Given the description of an element on the screen output the (x, y) to click on. 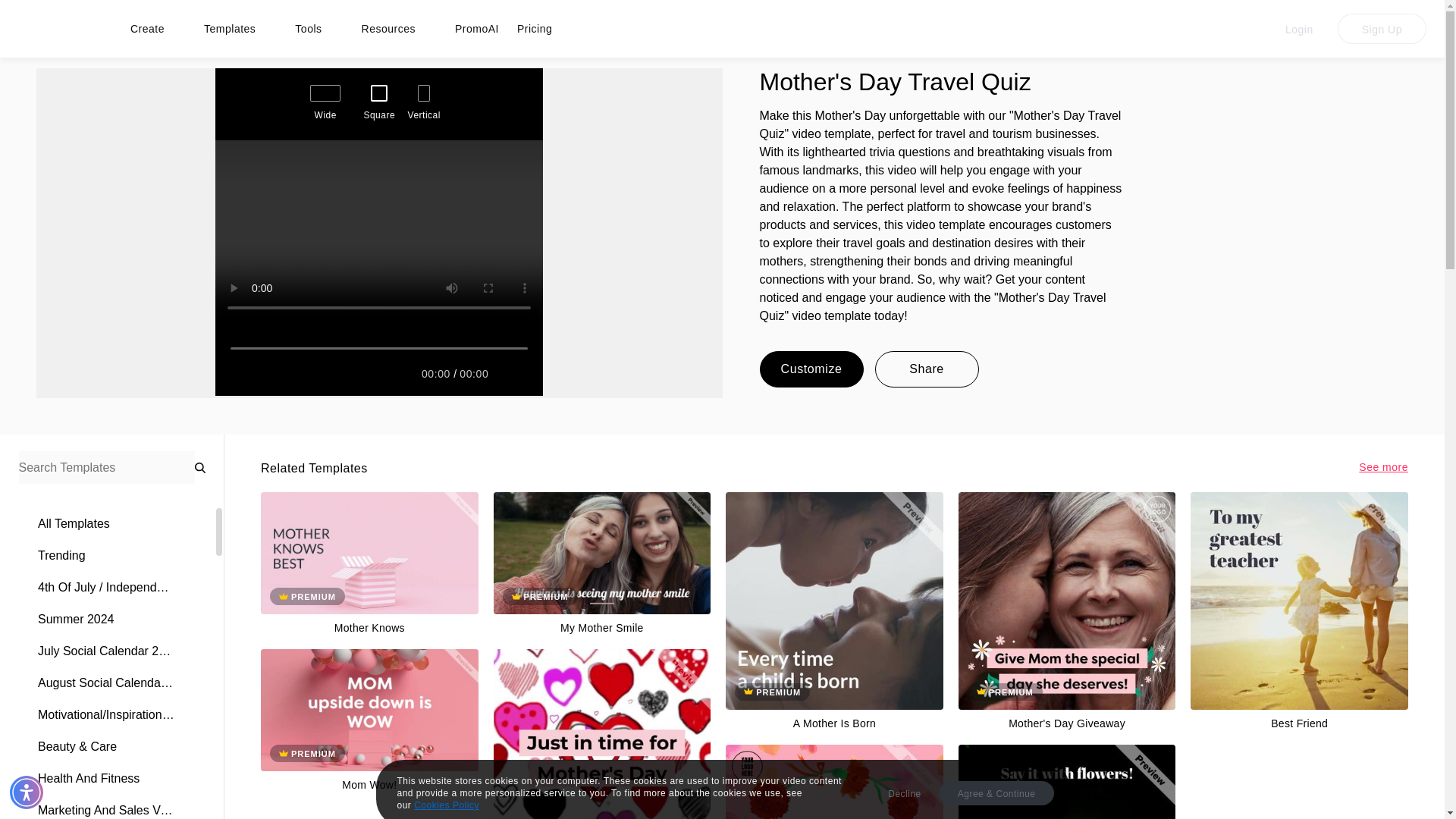
Accessibility Menu (26, 792)
